Given the description of an element on the screen output the (x, y) to click on. 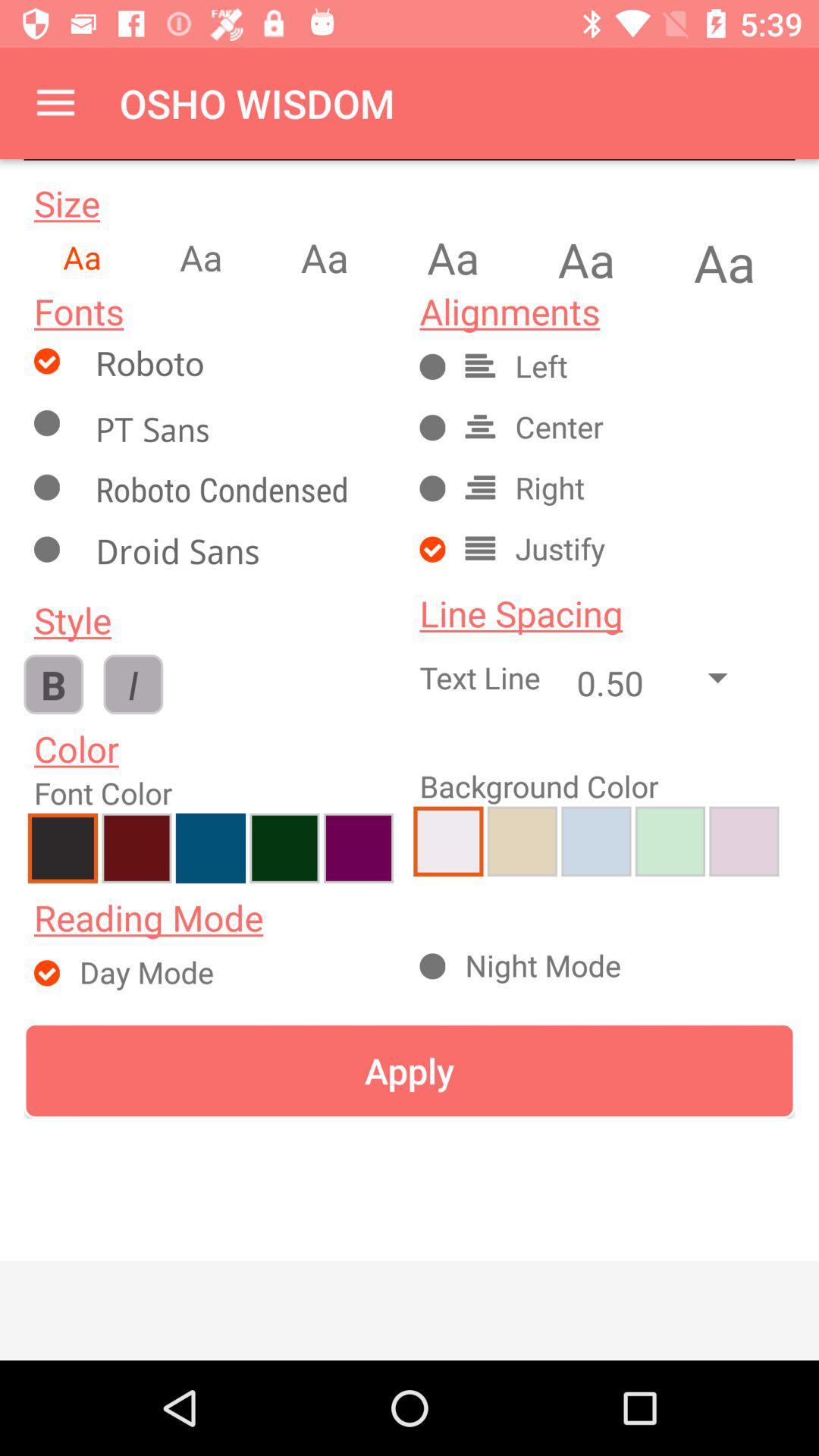
select text font droid sans (239, 554)
